Given the description of an element on the screen output the (x, y) to click on. 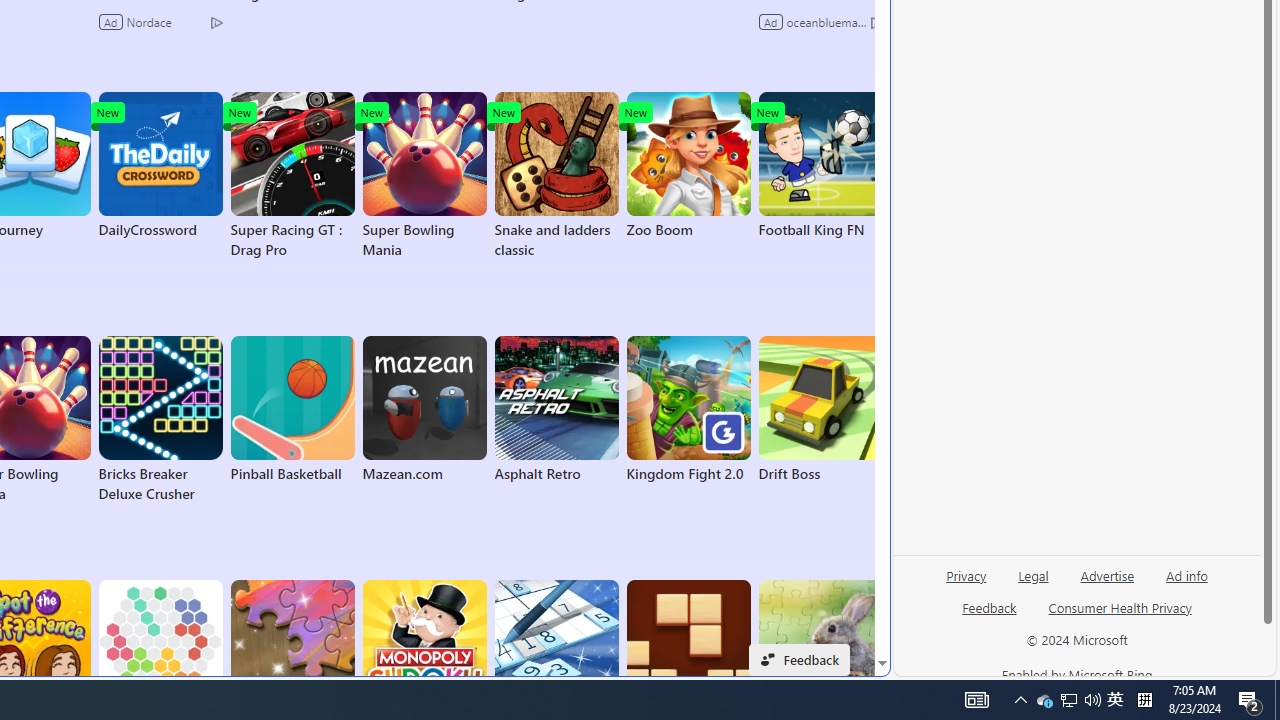
Super Racing GT : Drag Pro (292, 175)
